Given the description of an element on the screen output the (x, y) to click on. 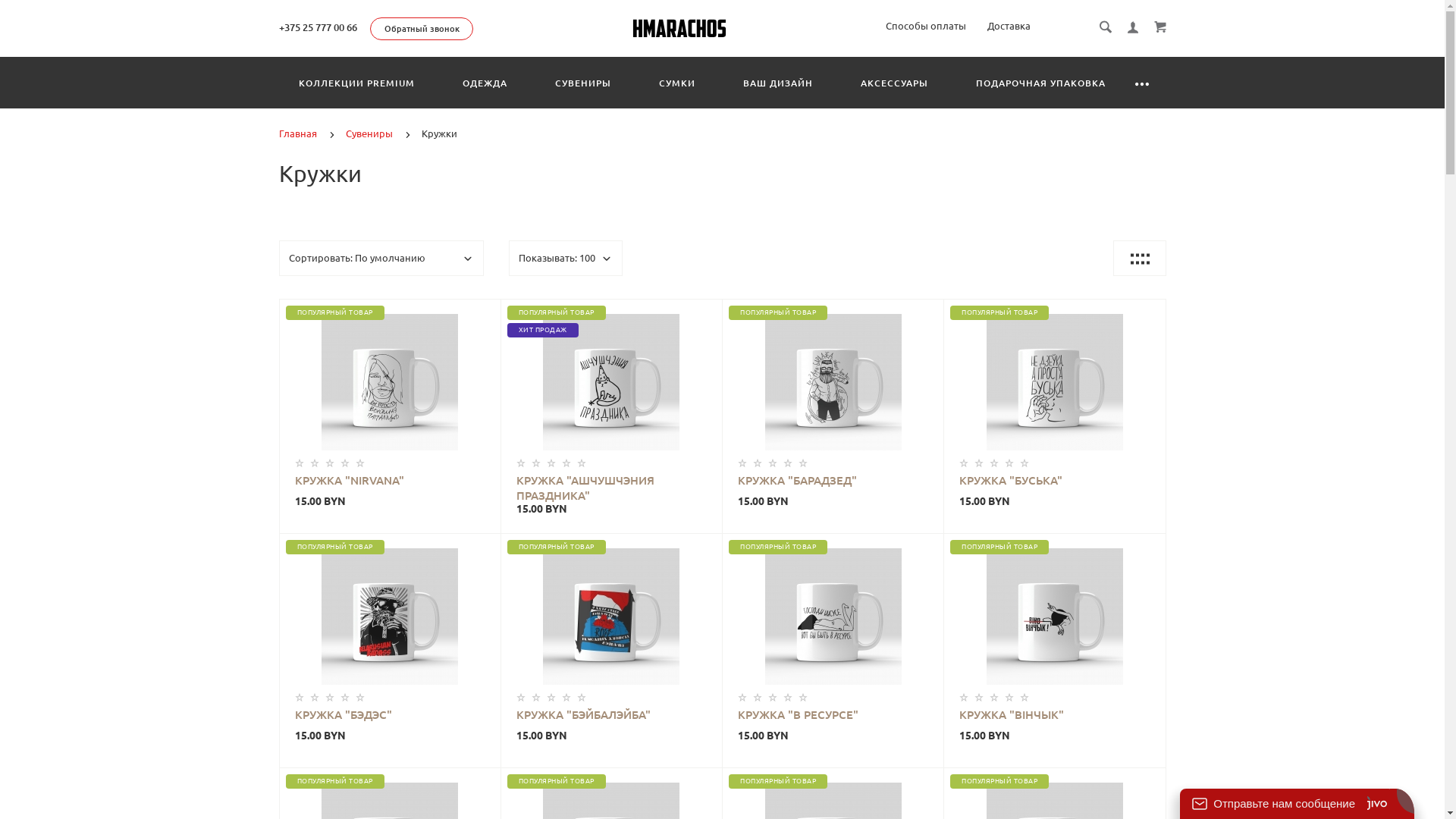
+375 25 777 00 66 Element type: text (318, 26)
